Given the description of an element on the screen output the (x, y) to click on. 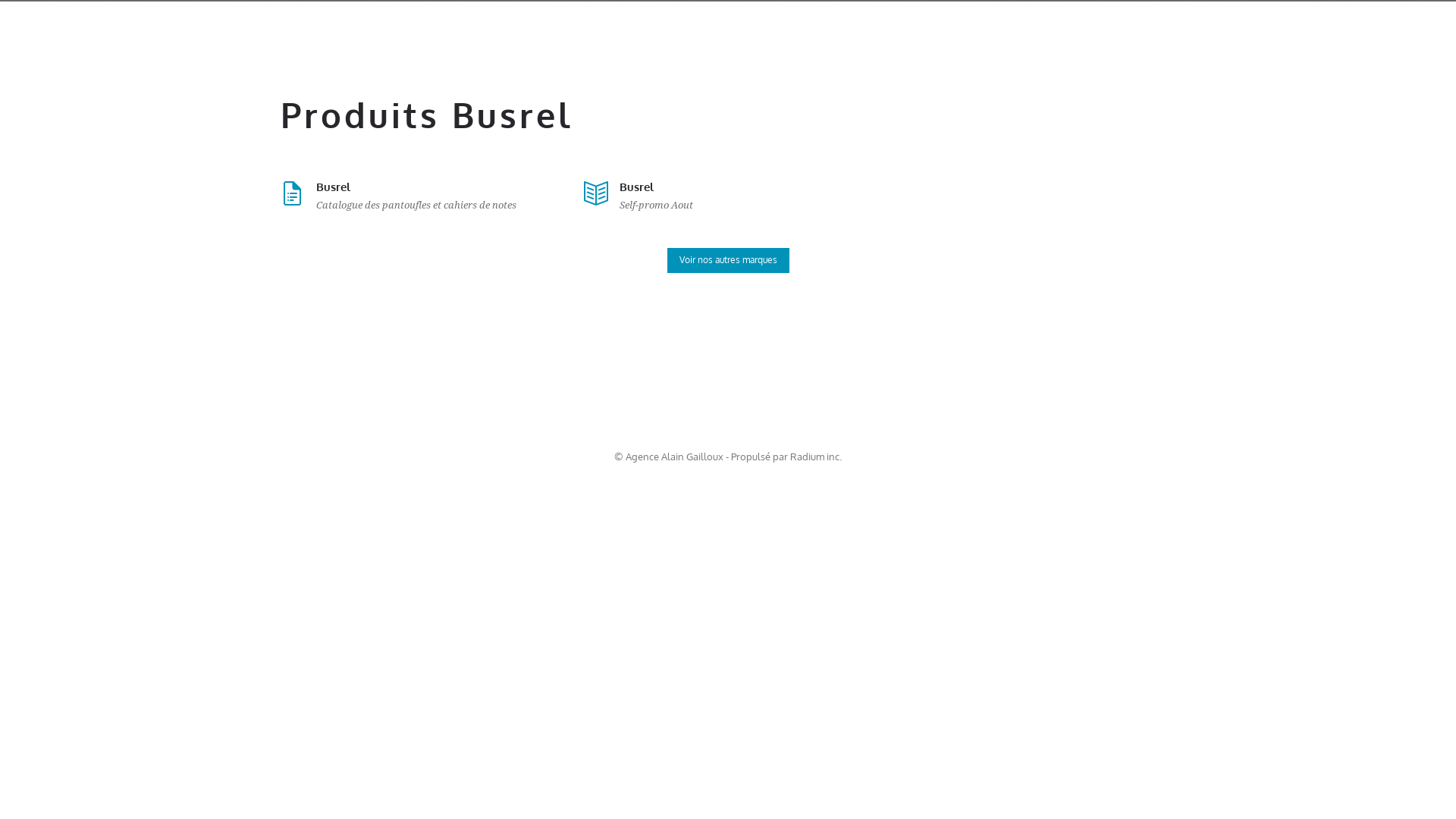
NOTRE HISTOIRE Element type: text (1021, 23)
Voir nos autres marques Element type: text (728, 260)
Busrel
Catalogue des pantoufles et cahiers de notes Element type: text (424, 195)
NOS MARQUES Element type: text (1142, 23)
ACCUEIL Element type: text (829, 23)
CONTACT Element type: text (1241, 23)
Busrel
Self-promo Aout Element type: text (727, 195)
